Given the description of an element on the screen output the (x, y) to click on. 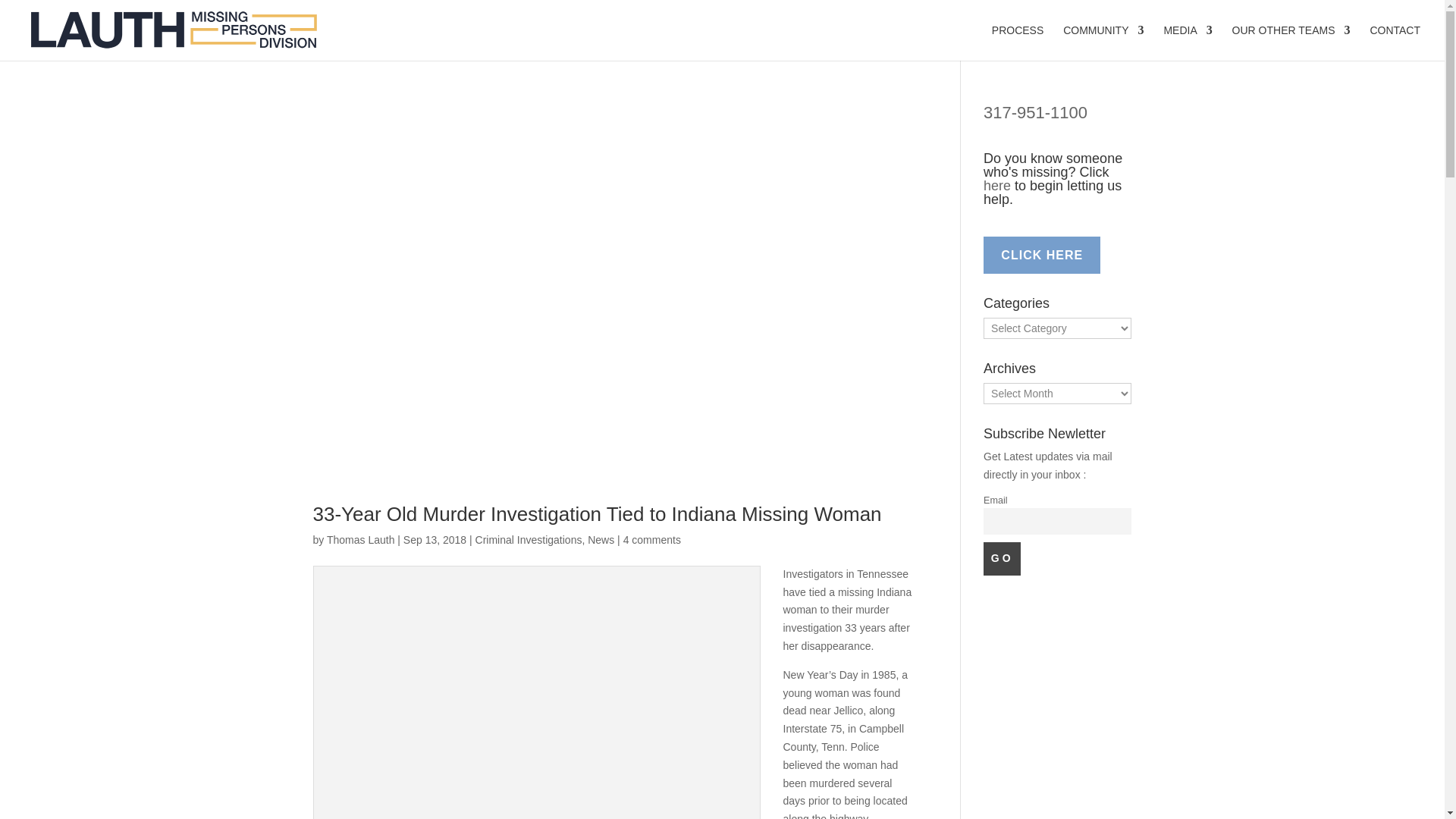
MEDIA (1187, 42)
Posts by Thomas Lauth (360, 539)
Thomas Lauth (360, 539)
Criminal Investigations (529, 539)
GO (1002, 558)
OUR OTHER TEAMS (1291, 42)
4 comments (652, 539)
CONTACT (1395, 42)
here (997, 185)
GO (1002, 558)
COMMUNITY (1102, 42)
CLICK HERE (1042, 254)
317-951-1100 (1035, 112)
PROCESS (1017, 42)
